Given the description of an element on the screen output the (x, y) to click on. 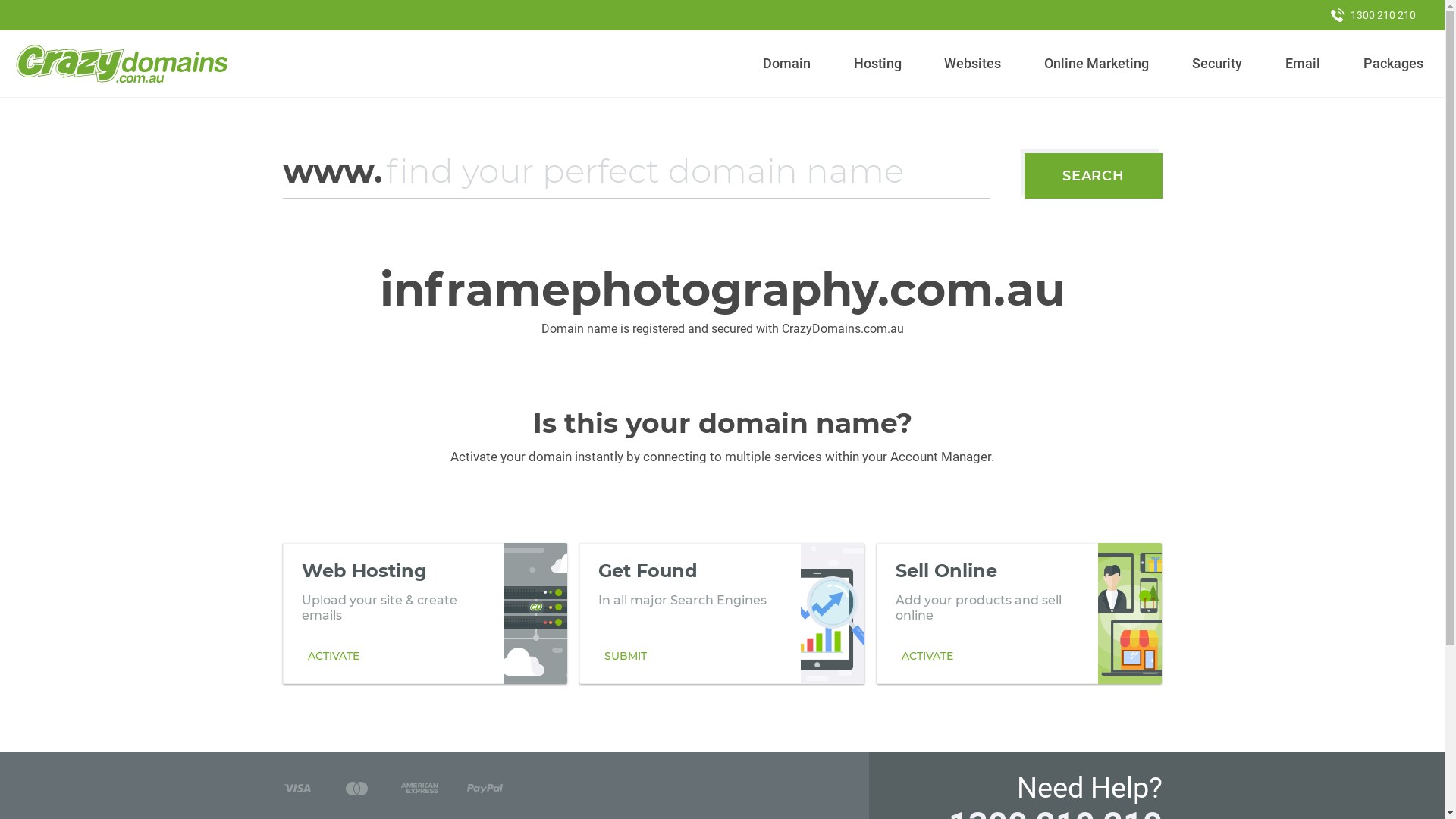
Packages Element type: text (1392, 63)
Security Element type: text (1217, 63)
Sell Online
Add your products and sell online
ACTIVATE Element type: text (1018, 613)
Hosting Element type: text (877, 63)
1300 210 210 Element type: text (1373, 15)
Get Found
In all major Search Engines
SUBMIT Element type: text (721, 613)
Web Hosting
Upload your site & create emails
ACTIVATE Element type: text (424, 613)
Domain Element type: text (786, 63)
SEARCH Element type: text (1092, 175)
Websites Element type: text (972, 63)
Email Element type: text (1302, 63)
Online Marketing Element type: text (1096, 63)
